Given the description of an element on the screen output the (x, y) to click on. 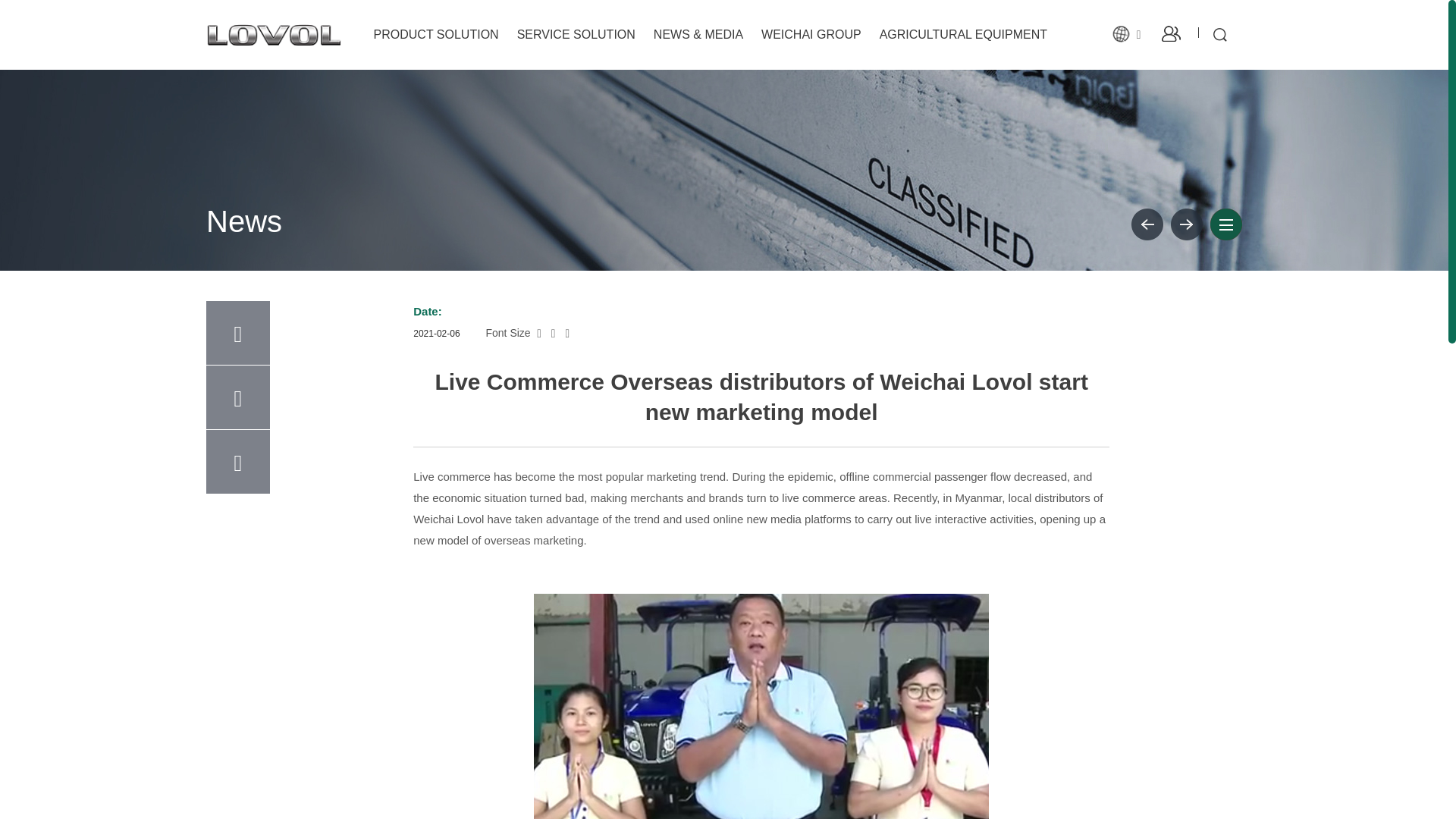
share to twitter (237, 461)
AGRICULTURAL EQUIPMENT (962, 34)
WEICHAI GROUP (811, 34)
Reduce (553, 332)
Enlarge (568, 332)
share to facebook (237, 397)
SERVICE SOLUTION (575, 34)
share to linkin (237, 332)
Shrink  (539, 332)
PRODUCT SOLUTION (436, 34)
